Given the description of an element on the screen output the (x, y) to click on. 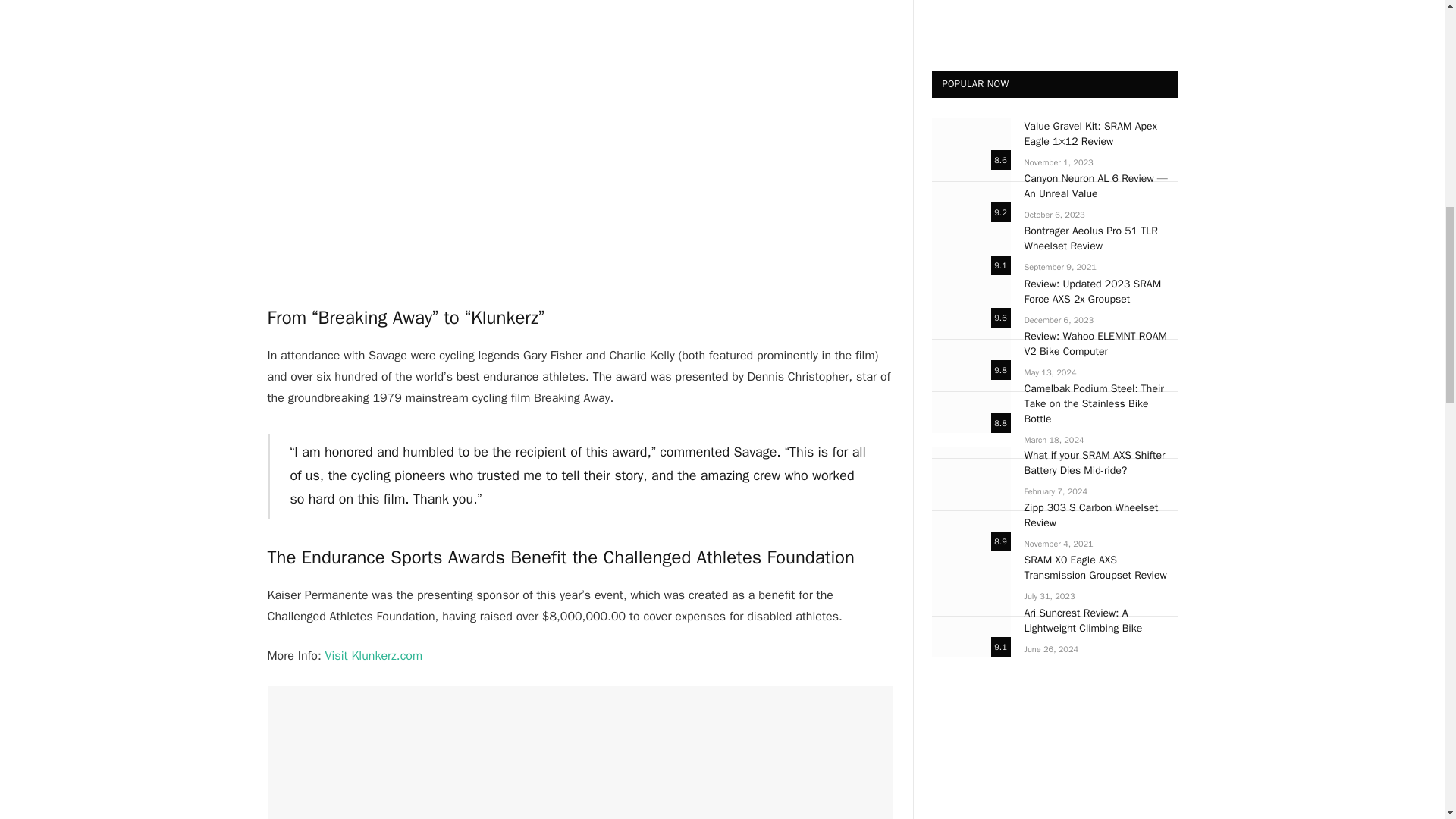
Visit Klunkerz.com (373, 655)
